Given the description of an element on the screen output the (x, y) to click on. 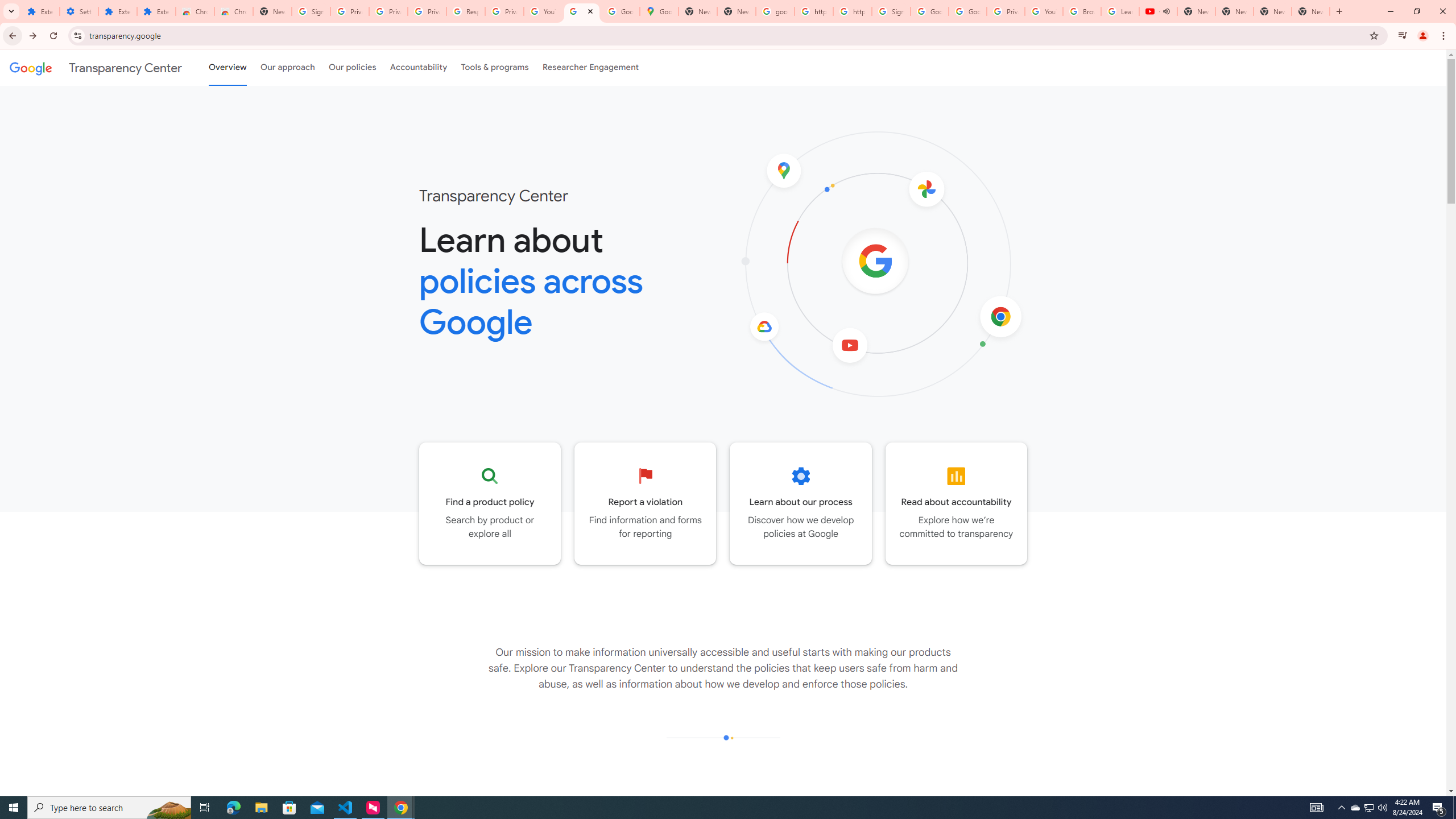
Chrome Web Store - Themes (233, 11)
New Tab (272, 11)
Extensions (40, 11)
